Given the description of an element on the screen output the (x, y) to click on. 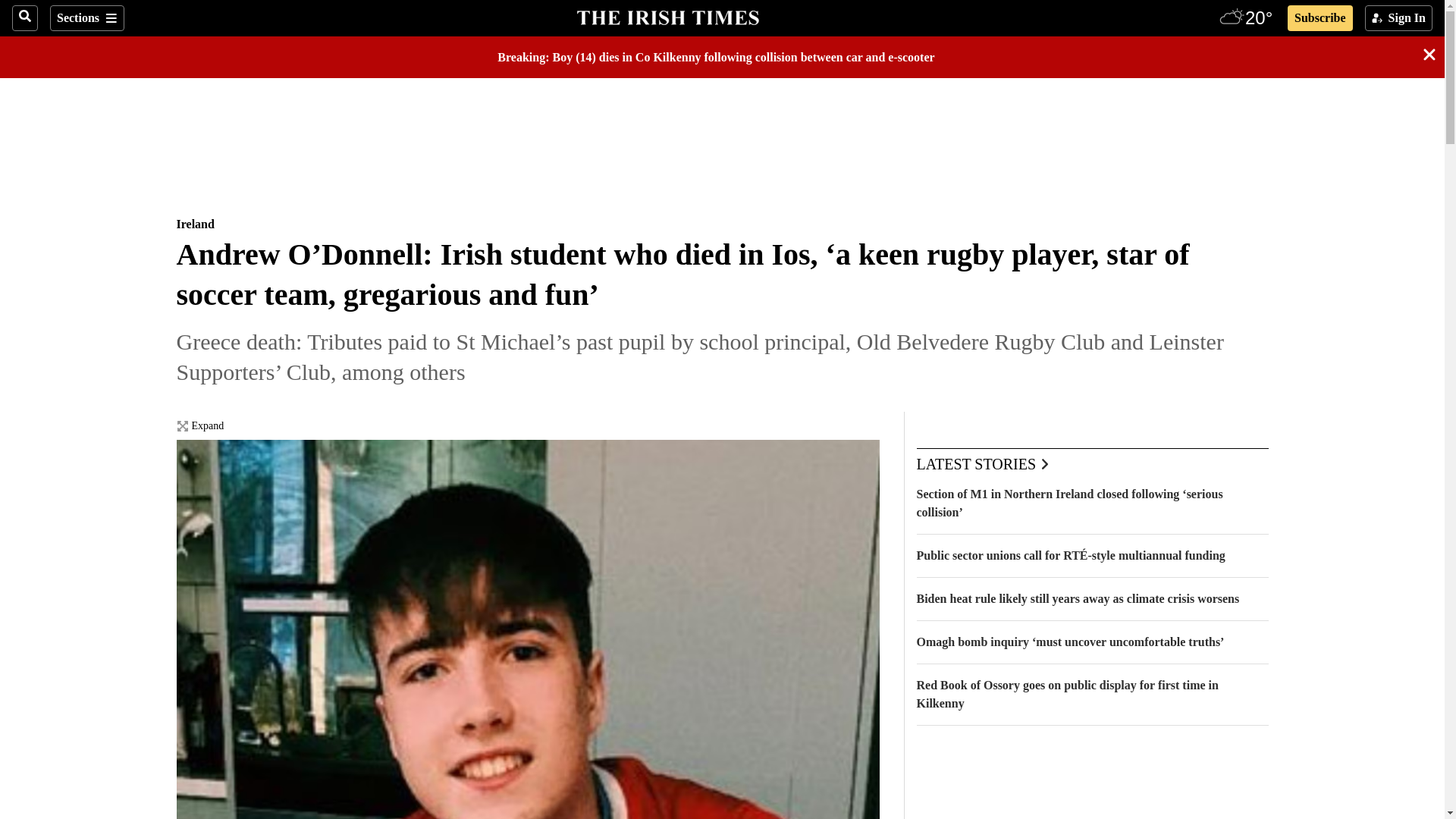
Sign In (1398, 17)
The Irish Times (667, 16)
Sections (86, 17)
Subscribe (1319, 17)
